Given the description of an element on the screen output the (x, y) to click on. 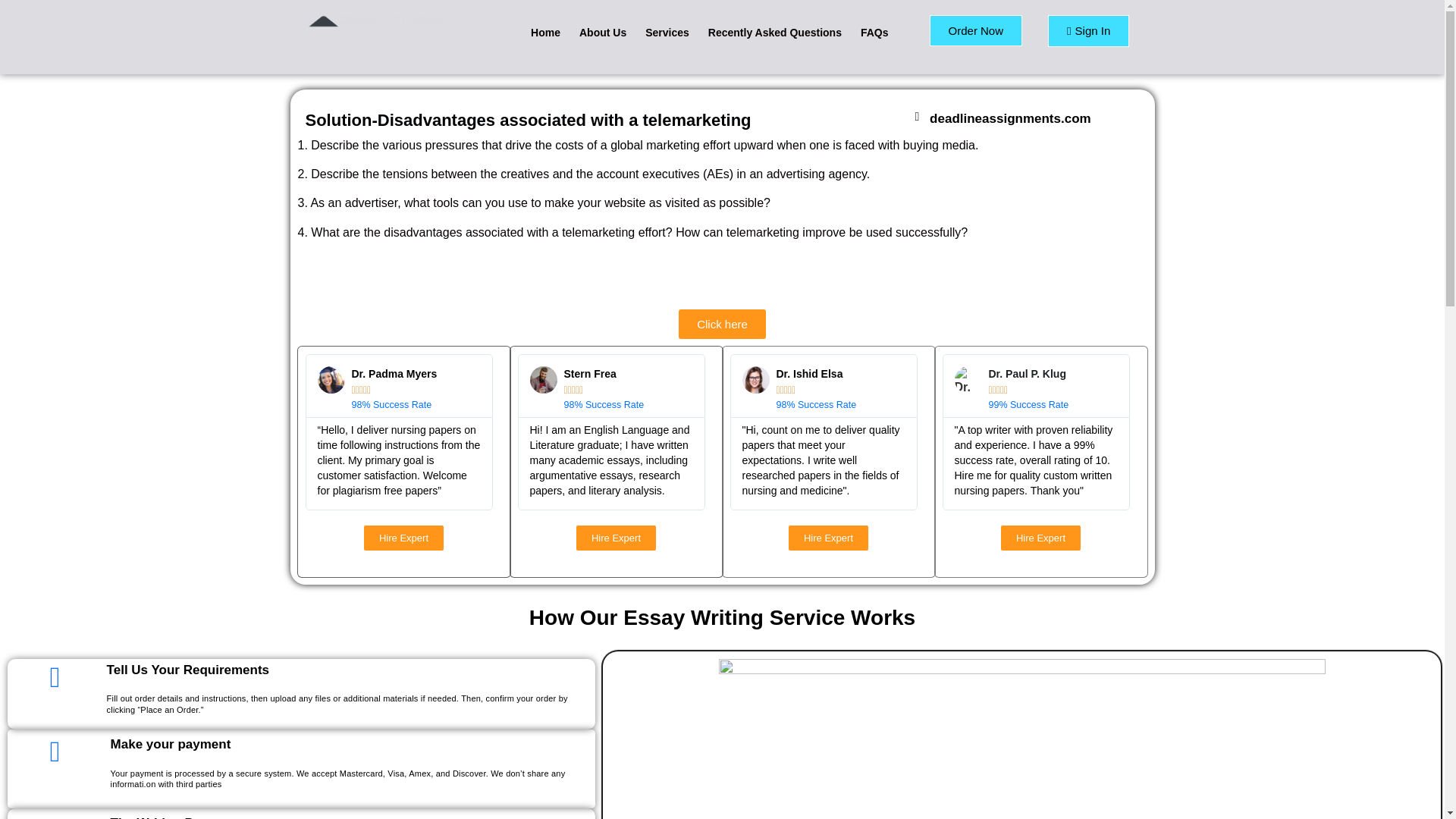
About Us (603, 32)
Hire Expert (1040, 537)
Hire Expert (828, 537)
Hire Expert (616, 537)
deadlineassignments.com (1010, 118)
Sign In (1088, 30)
Hire Expert (404, 537)
FAQs (874, 32)
Order Now (976, 30)
Click here (721, 324)
Recently Asked Questions (775, 32)
Services (667, 32)
Home (545, 32)
